Given the description of an element on the screen output the (x, y) to click on. 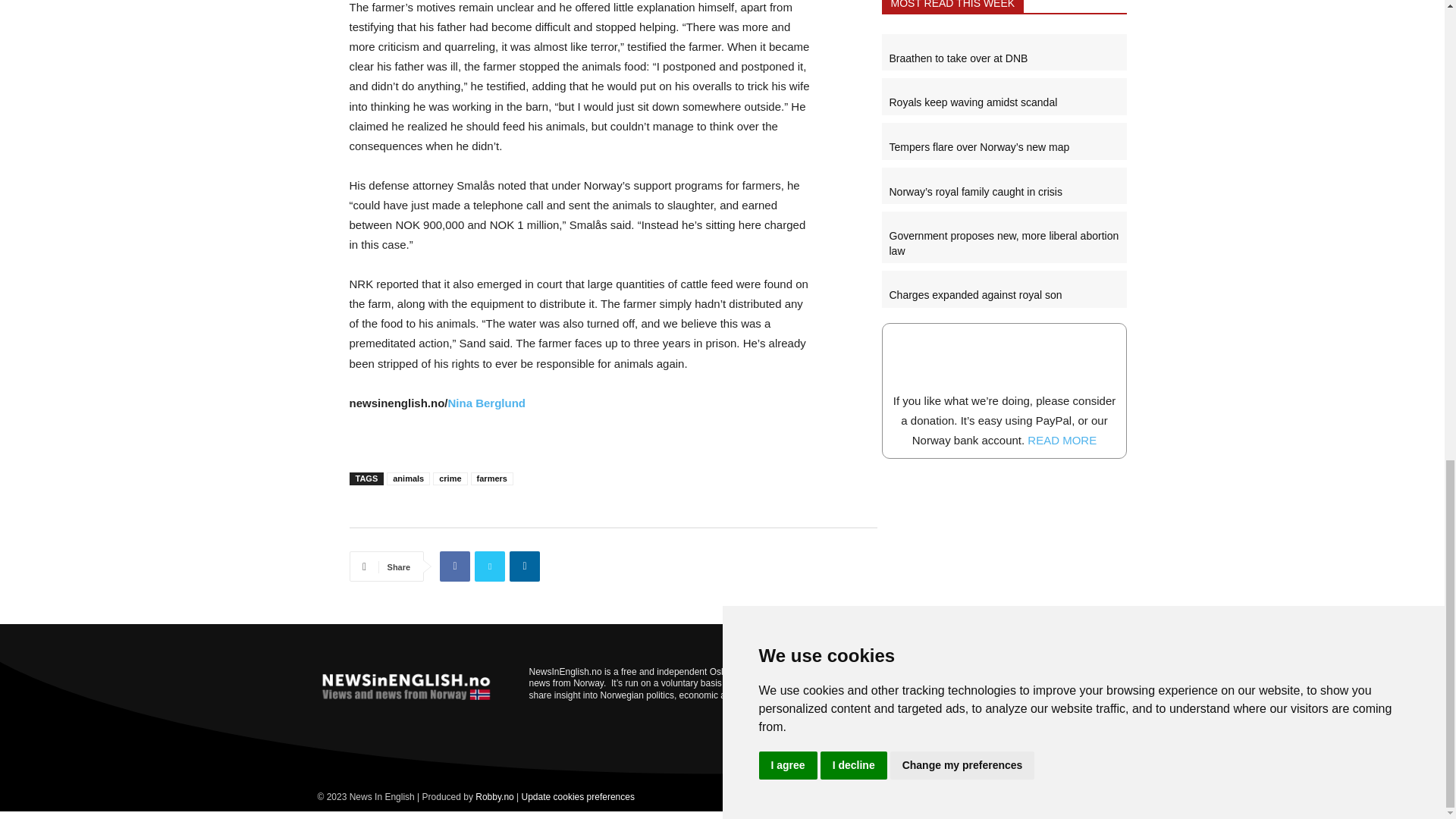
Linkedin (524, 566)
Twitter (489, 566)
Facebook (454, 566)
